Given the description of an element on the screen output the (x, y) to click on. 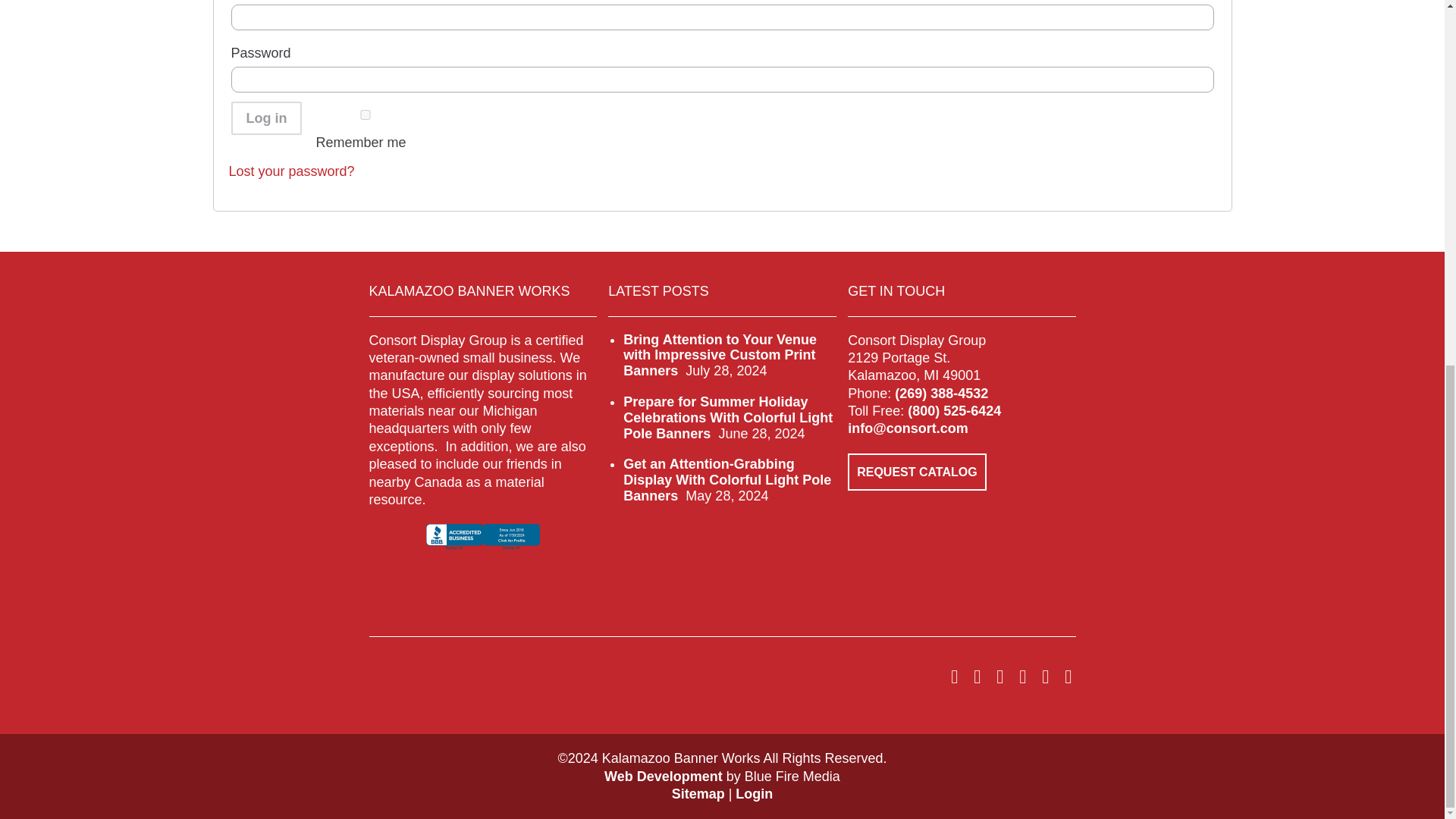
view our sitemap (698, 793)
cms login (754, 793)
Web Design (663, 776)
Lost your password? (291, 171)
Consort Display Group, Banners, Kalamazoo, MI (483, 549)
Log in (265, 118)
forever (365, 114)
